Given the description of an element on the screen output the (x, y) to click on. 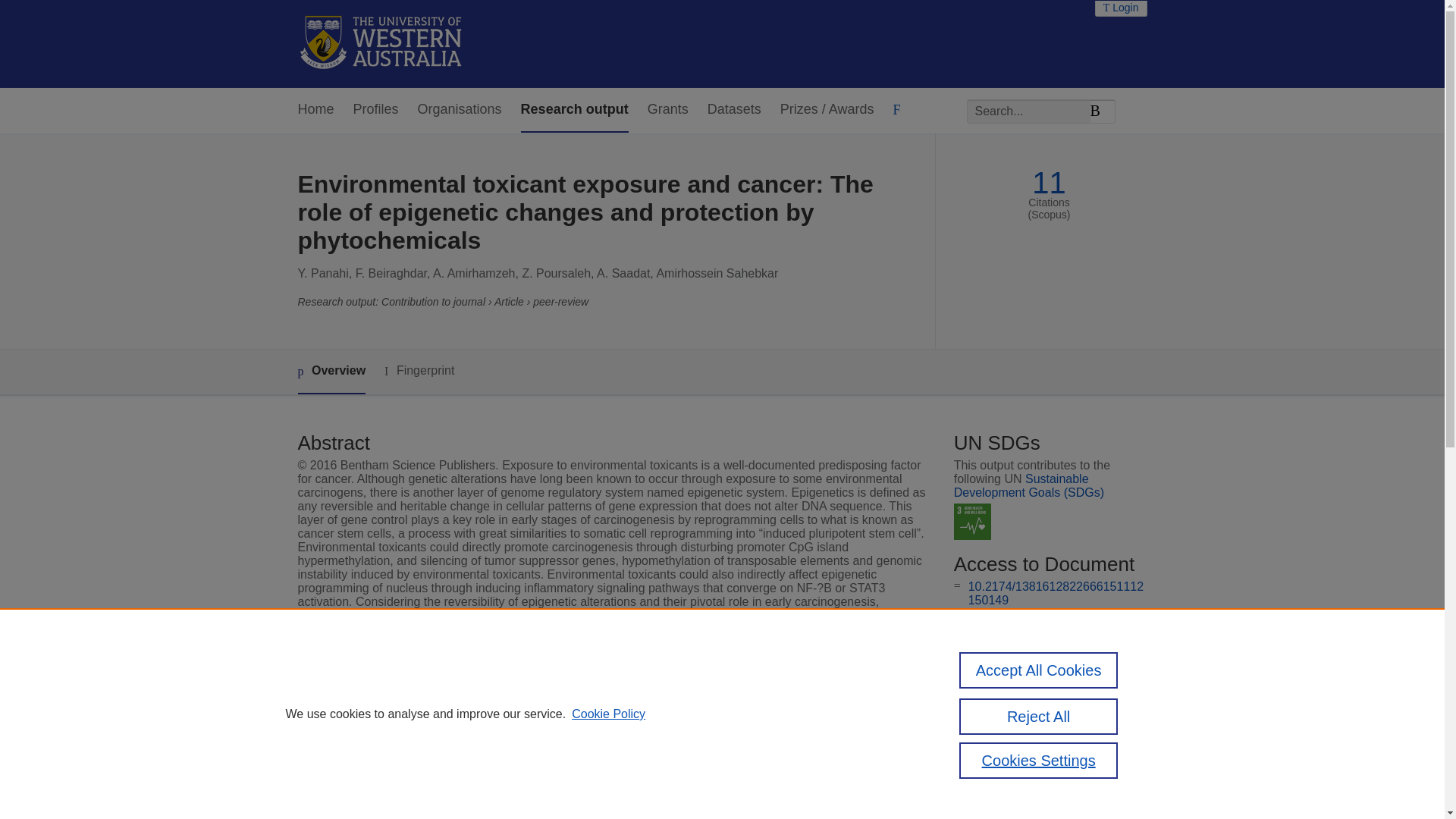
Overview (331, 371)
Research output (574, 109)
Fingerprint (419, 371)
11 (1048, 182)
the UWA Profiles and Research Repository Home (380, 43)
Login (1121, 7)
Organisations (459, 109)
Current Pharmaceutical Design (592, 757)
Grants (667, 109)
